Given the description of an element on the screen output the (x, y) to click on. 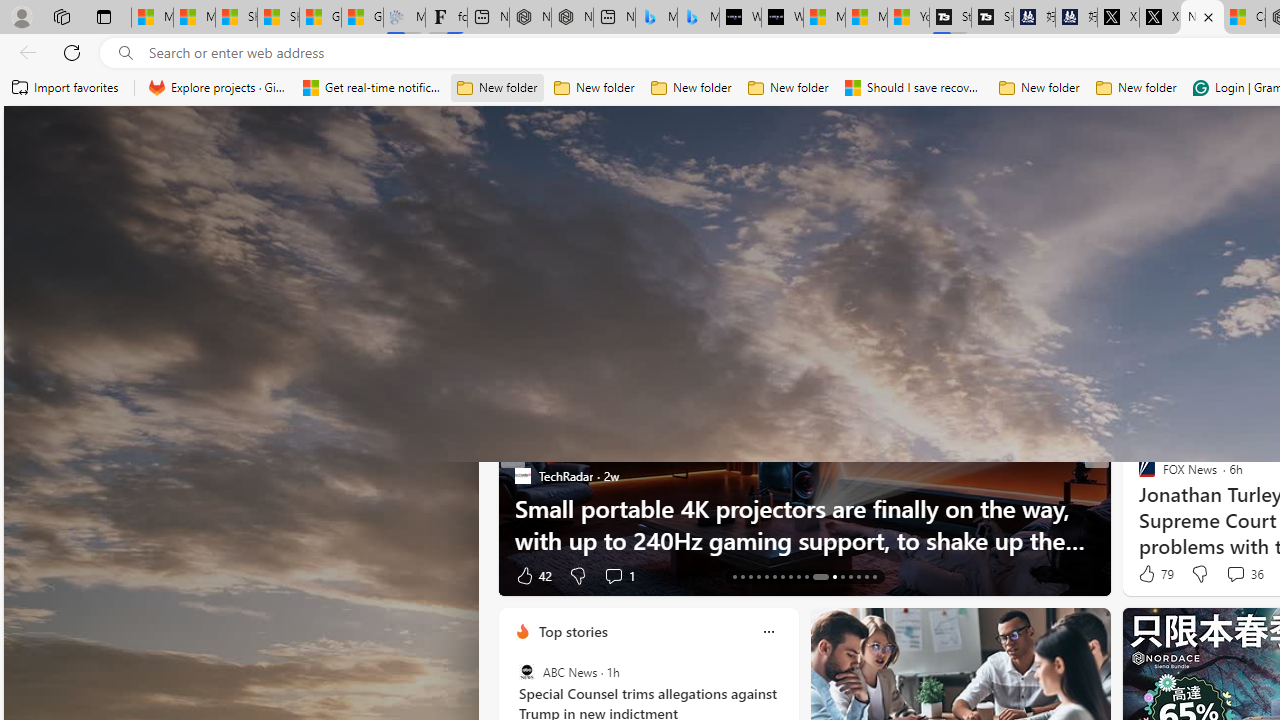
Workspaces (61, 16)
4 Like (1145, 574)
Learning (1159, 267)
More options (768, 631)
Import favorites (65, 88)
Watch (1089, 265)
View comments 17 Comment (1234, 575)
AutomationID: tab-20 (789, 576)
The Weather Channel (1138, 475)
Discover (538, 267)
What's the best AI voice generator? - voice.ai (781, 17)
AutomationID: tab-25 (842, 576)
Search icon (125, 53)
